Given the description of an element on the screen output the (x, y) to click on. 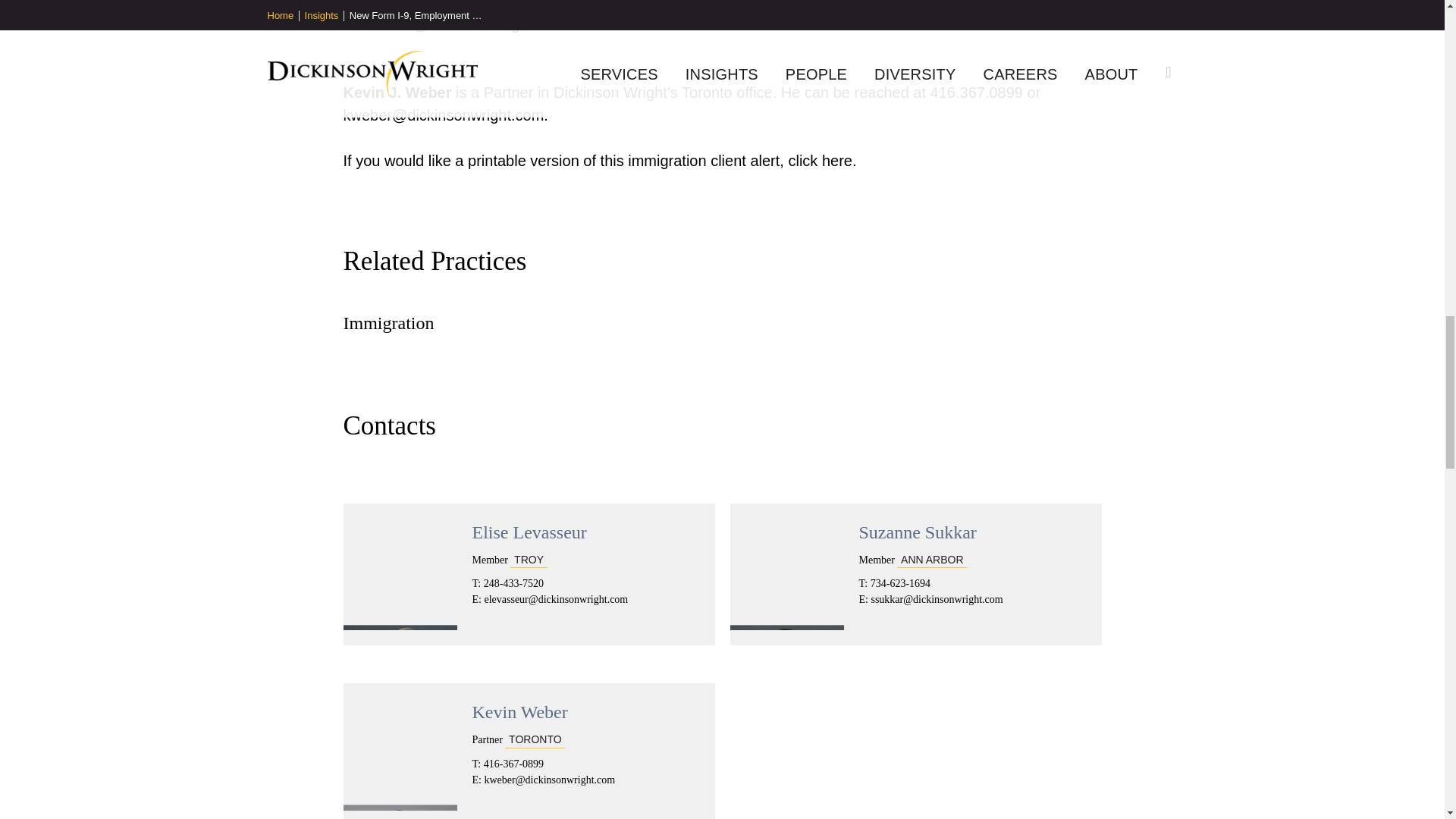
Kevin Weber (519, 711)
Immigration (387, 323)
Elise Levasseur (528, 532)
248-433-7520 (511, 583)
Suzanne Sukkar (917, 532)
TROY (529, 558)
416-367-0899 (511, 763)
TORONTO (534, 738)
here (836, 160)
ANN ARBOR (931, 558)
